Given the description of an element on the screen output the (x, y) to click on. 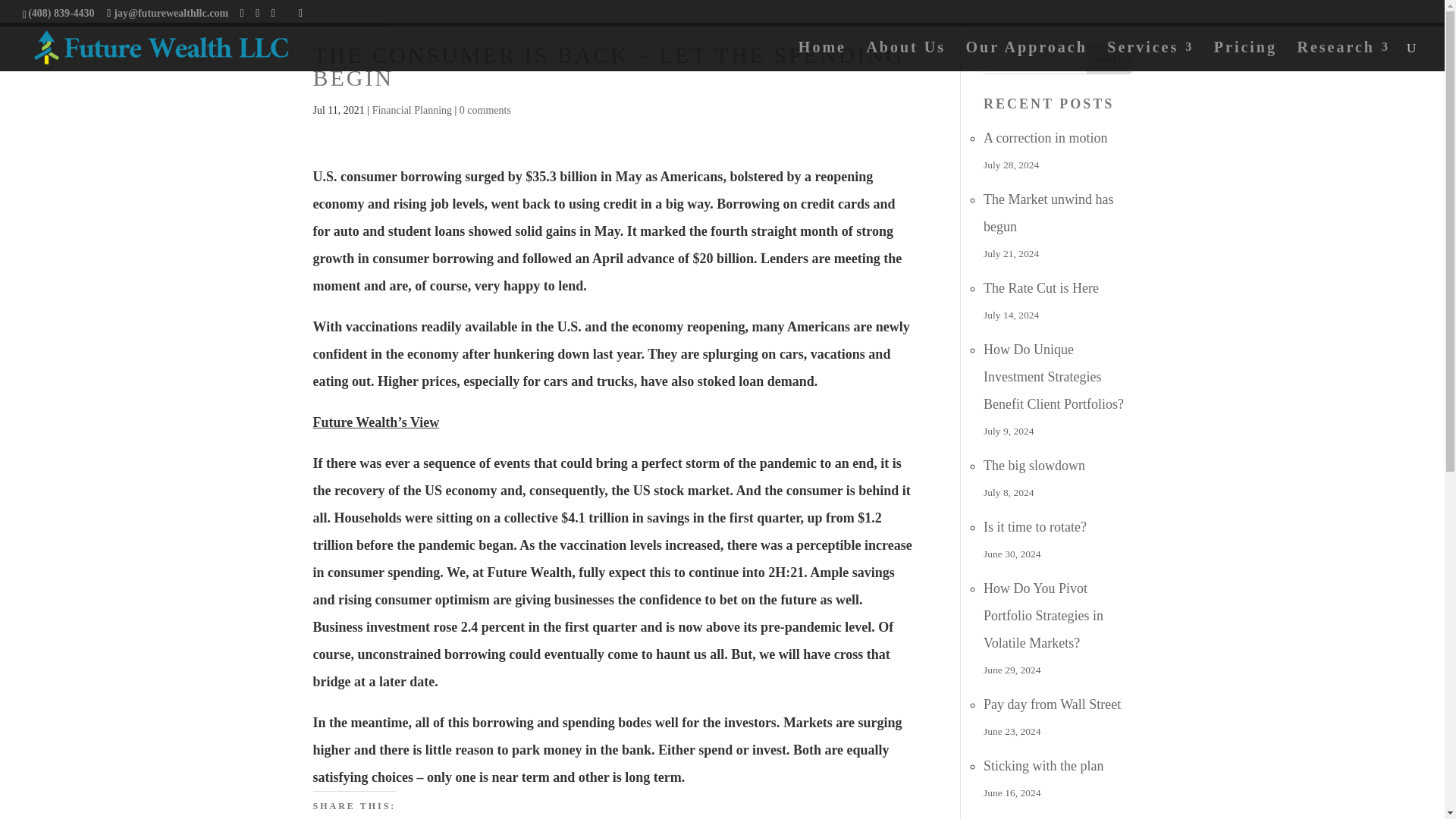
Research (1343, 56)
Services (1149, 56)
About Us (905, 56)
Pricing (1245, 56)
Our Approach (1026, 56)
Search (1109, 59)
Home (821, 56)
